Given the description of an element on the screen output the (x, y) to click on. 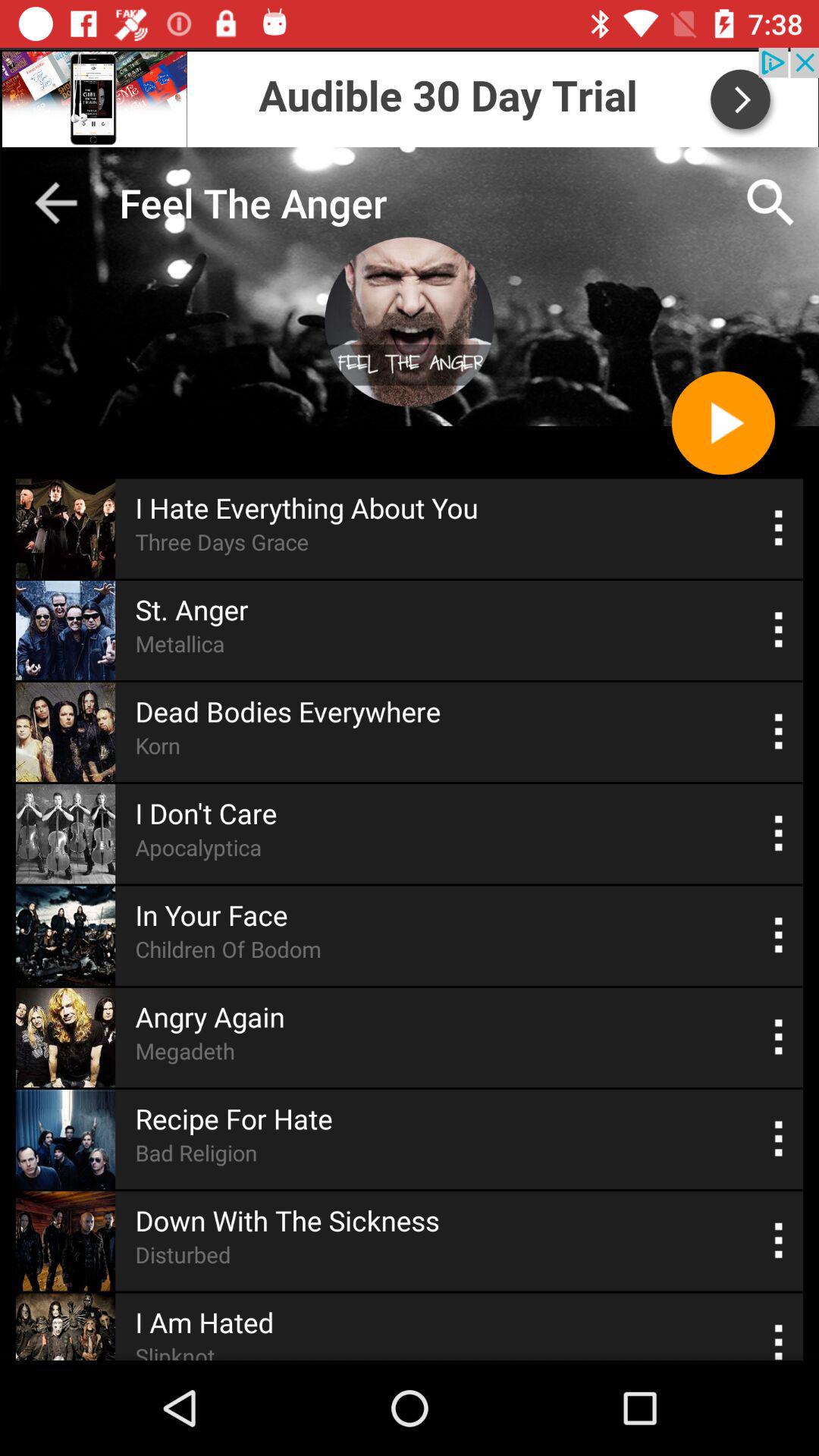
more options (779, 1139)
